Given the description of an element on the screen output the (x, y) to click on. 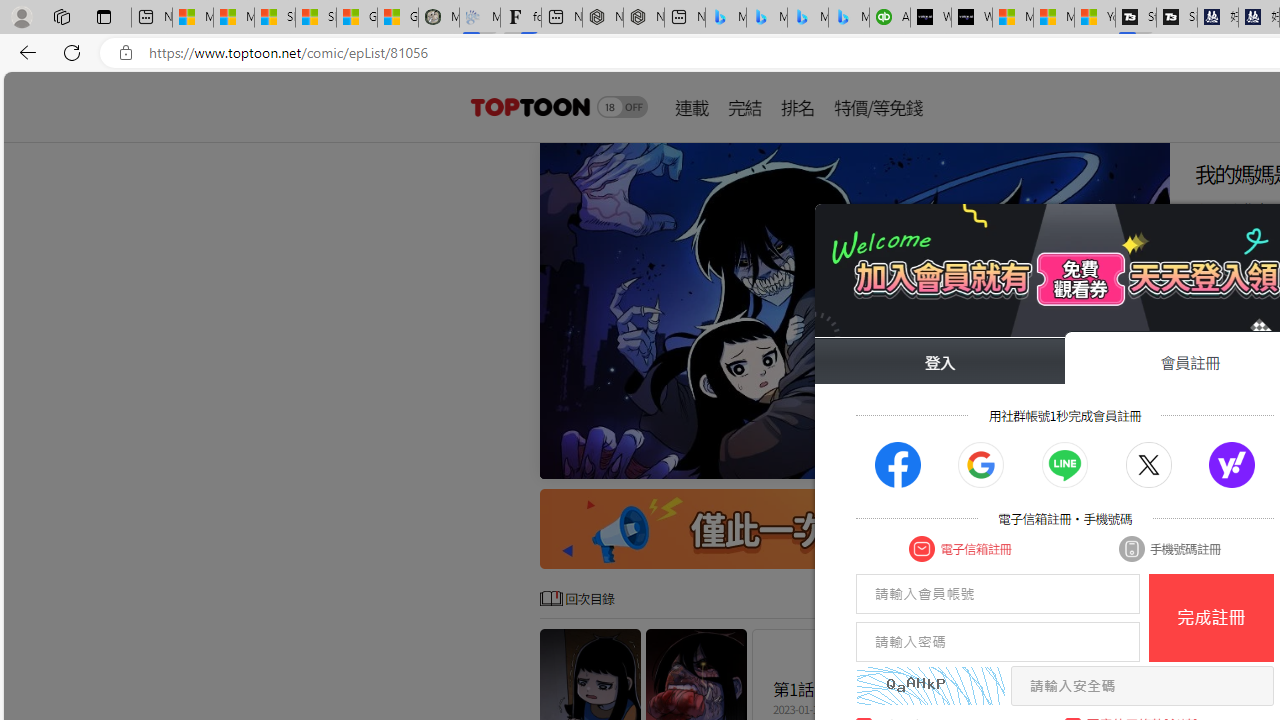
Go to slide 3 (1034, 461)
Go to slide 6 (1082, 461)
